Given the description of an element on the screen output the (x, y) to click on. 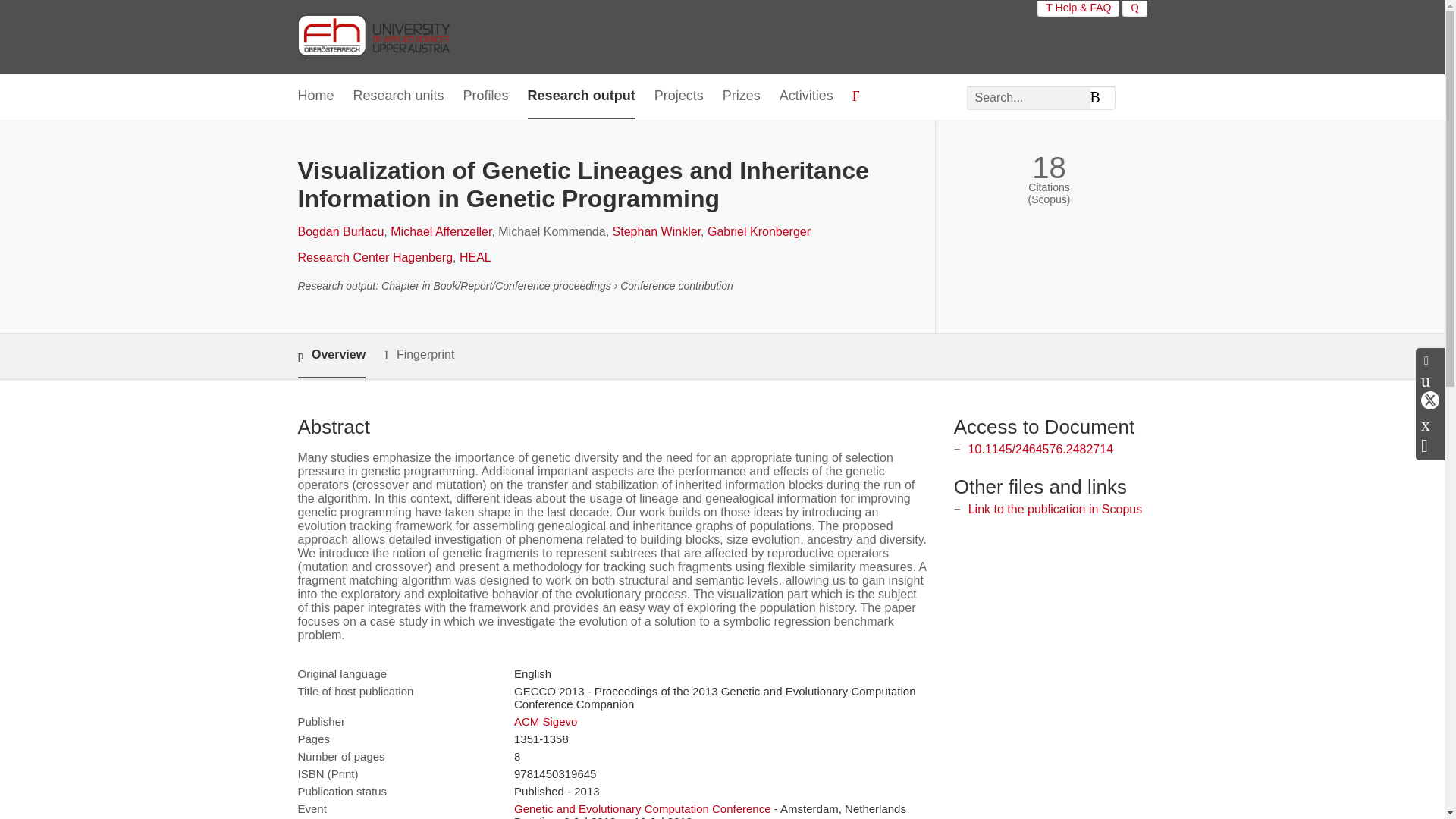
Research Center Hagenberg (374, 256)
Activities (805, 96)
University of Applied Sciences Upper Austria Home (372, 36)
ACM Sigevo (544, 721)
HEAL (476, 256)
Gabriel Kronberger (758, 231)
Projects (678, 96)
Overview (331, 355)
Michael Affenzeller (441, 231)
Link to the publication in Scopus (1054, 508)
Bogdan Burlacu (340, 231)
Stephan Winkler (656, 231)
Profiles (485, 96)
Genetic and Evolutionary Computation Conference (642, 808)
